Given the description of an element on the screen output the (x, y) to click on. 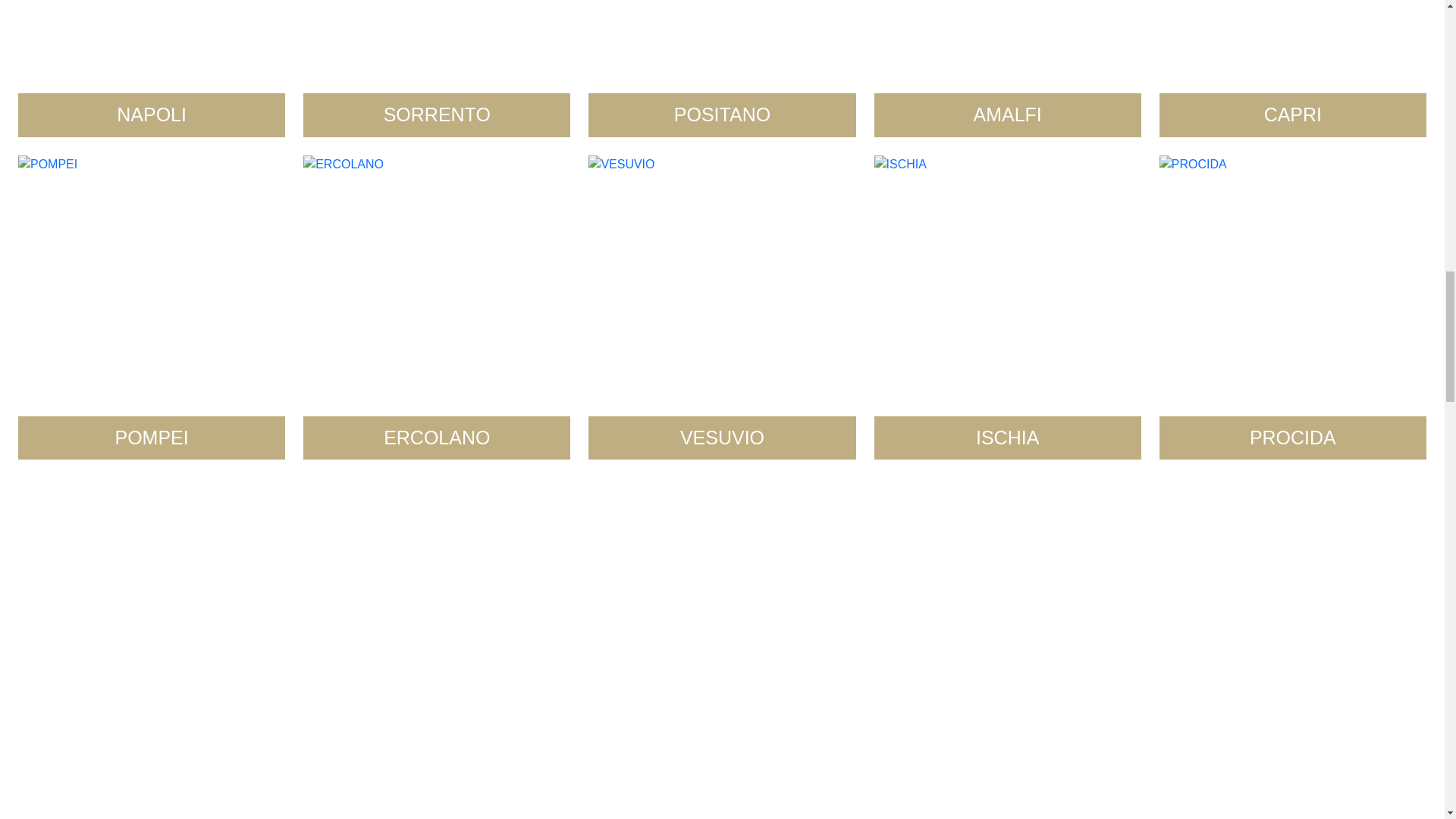
SORRENTO (436, 68)
NAPOLI (151, 68)
POSITANO (722, 68)
POSITANO (722, 68)
NAPOLI (151, 68)
AMALFI (1008, 68)
AMALFI (1008, 68)
CAPRI (1292, 68)
CAPRI (1292, 68)
SORRENTO (436, 68)
